Given the description of an element on the screen output the (x, y) to click on. 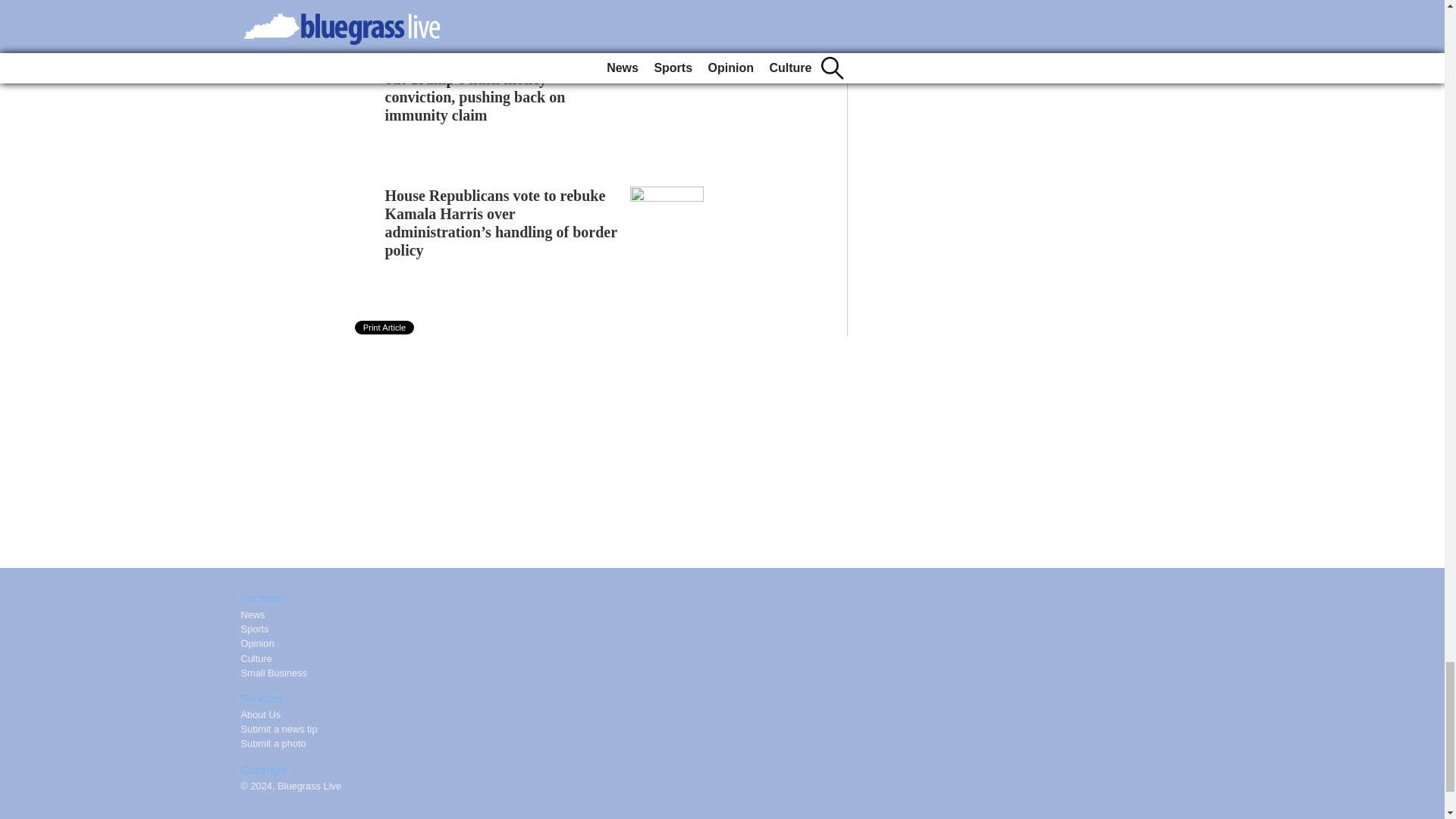
Sports (255, 628)
Opinion (258, 643)
Submit a photo (273, 743)
Small Business (274, 672)
News (252, 614)
Submit a news tip (279, 728)
About Us (261, 714)
Culture (256, 658)
Print Article (384, 327)
